Given the description of an element on the screen output the (x, y) to click on. 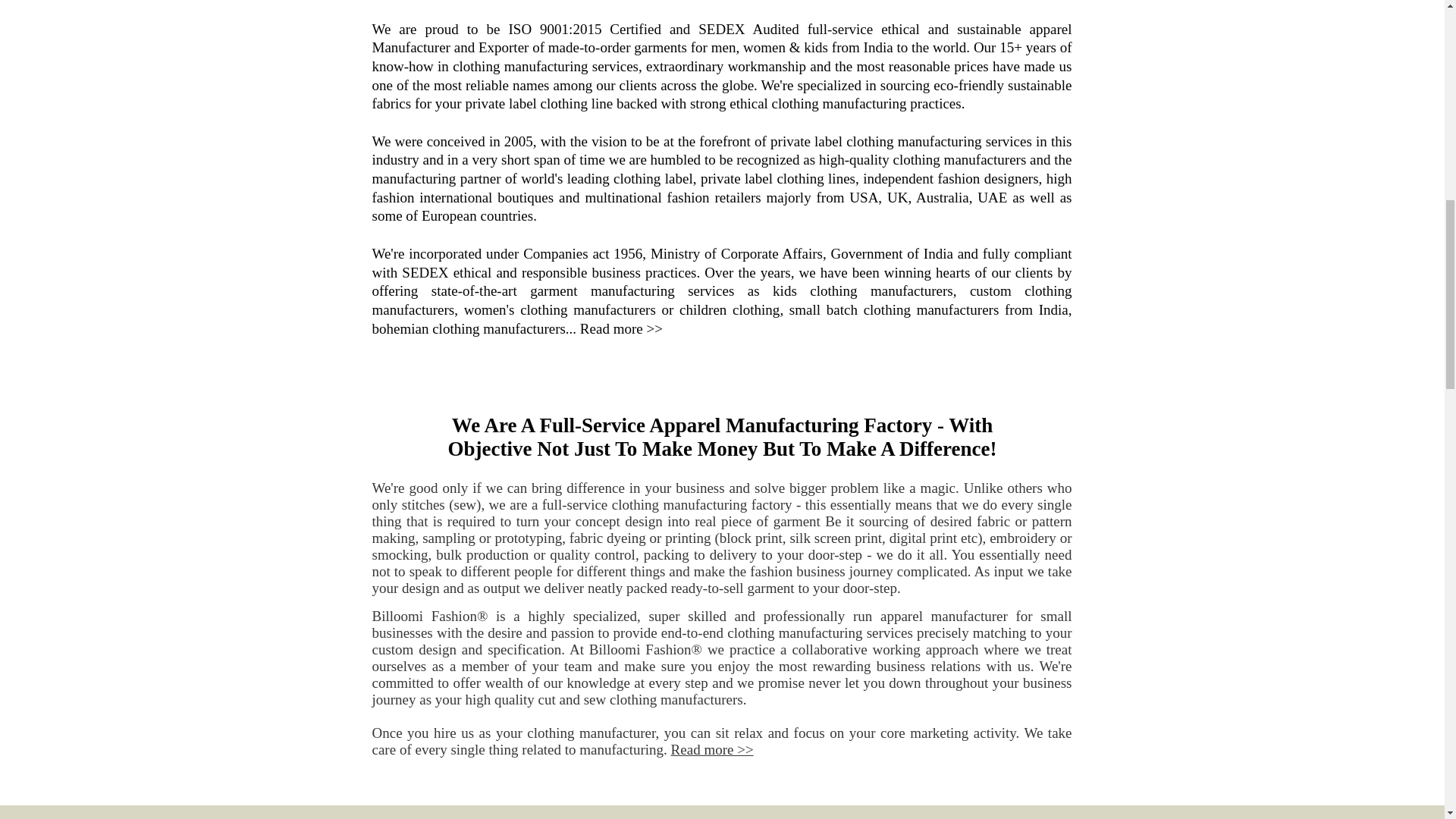
custom clothing manufacturers (721, 299)
SEDEX (424, 272)
private label clothing (762, 178)
children clothing (728, 309)
private label clothing (525, 103)
ohemian clothing manufacturers (472, 328)
cut and sew (572, 699)
private label clothing manufacturing services (901, 141)
women's clothing manufacturers (560, 309)
mall batch clothing manufacturers (896, 309)
